Given the description of an element on the screen output the (x, y) to click on. 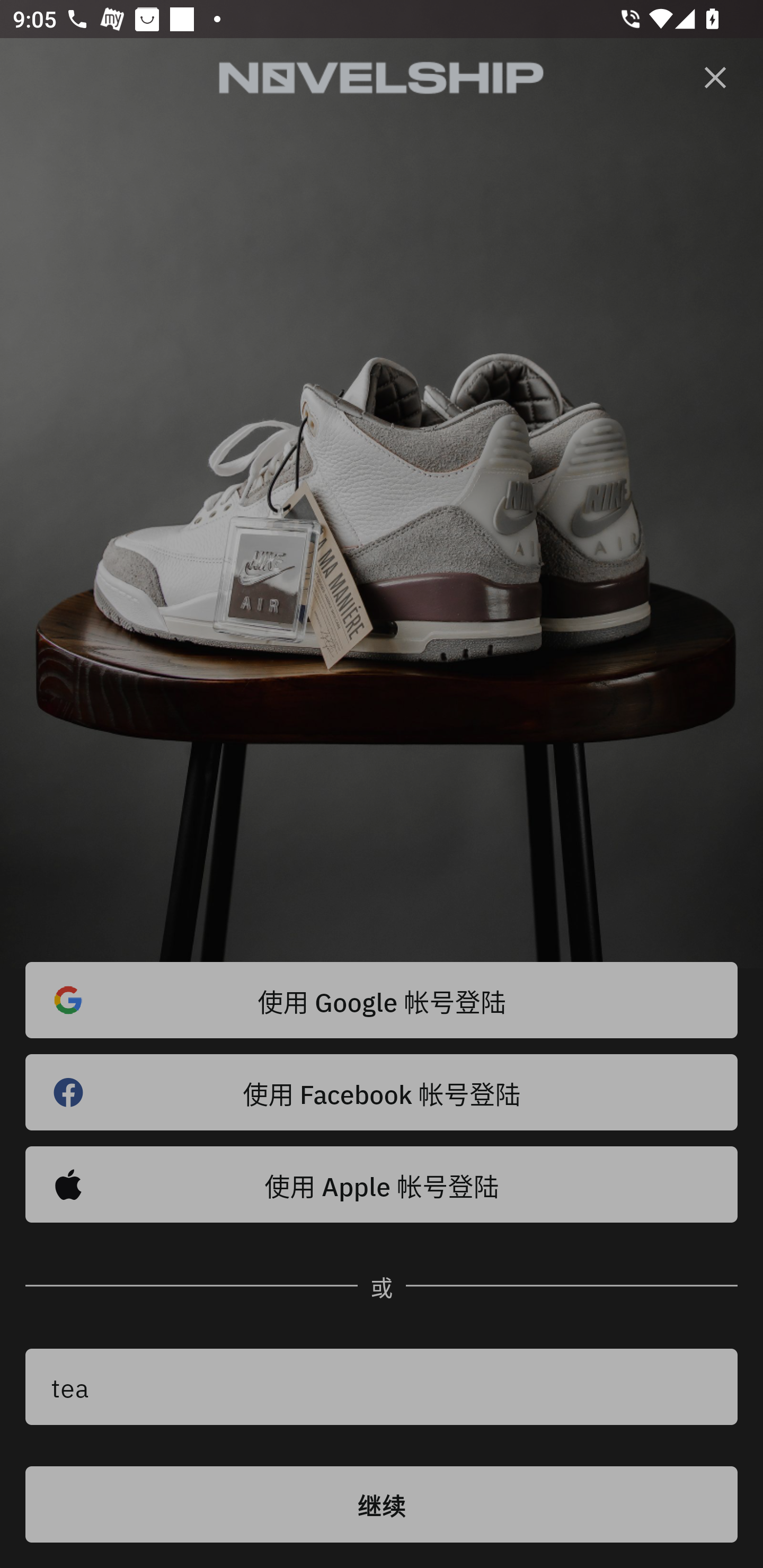
使用 Google 帐号登陆 (381, 1000)
使用 Facebook 帐号登陆 󰈌 (381, 1091)
 使用 Apple 帐号登陆 (381, 1184)
tea (381, 1386)
继续 (381, 1504)
